Given the description of an element on the screen output the (x, y) to click on. 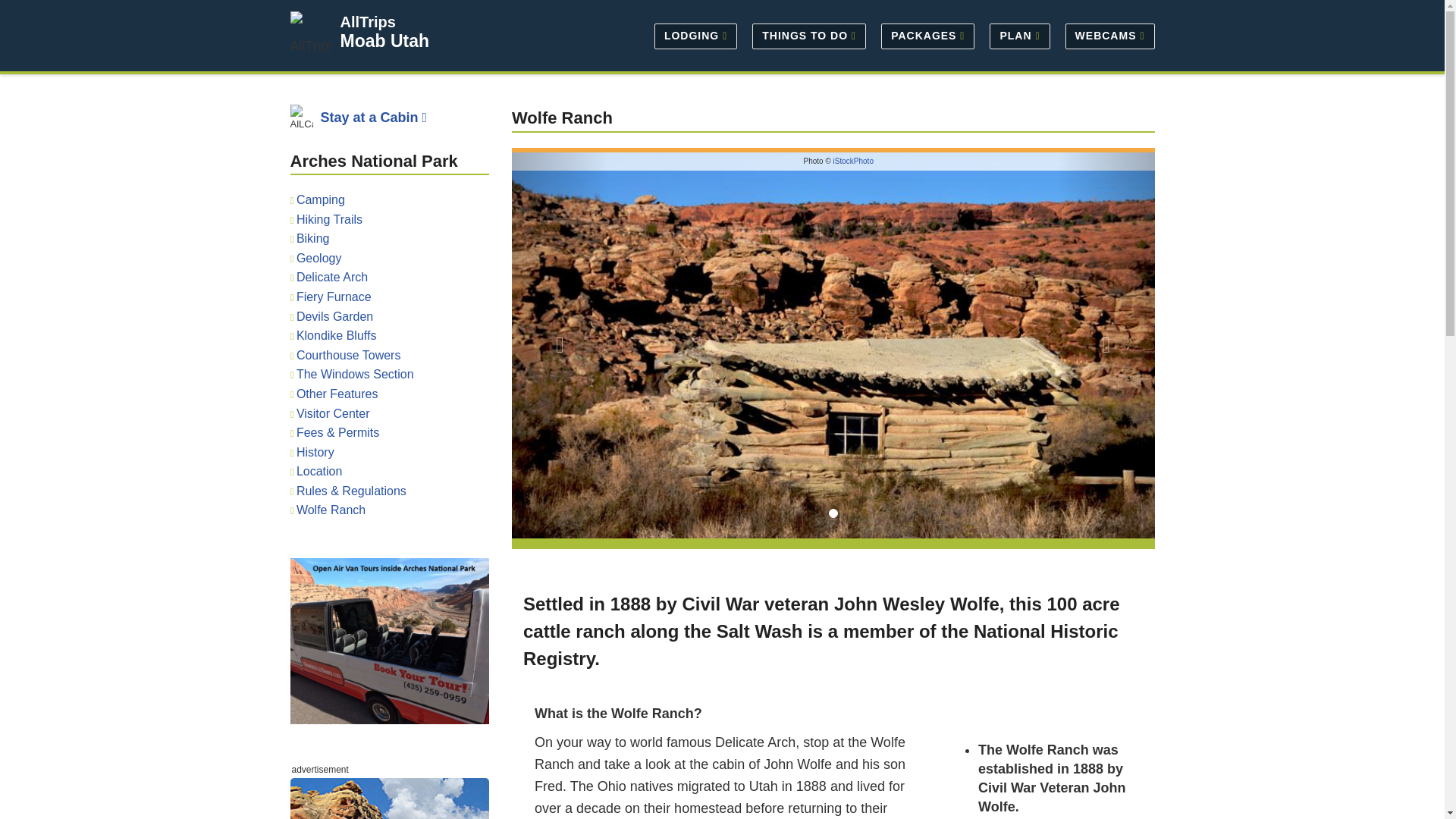
THINGS TO DO (808, 35)
PACKAGES (927, 35)
WEBCAMS (1106, 35)
Camping (321, 199)
Stay at a Cabin (375, 117)
AllTrips (366, 21)
PLAN (1019, 35)
Moab Utah (384, 40)
iStockPhoto (852, 161)
LODGING (695, 35)
